Given the description of an element on the screen output the (x, y) to click on. 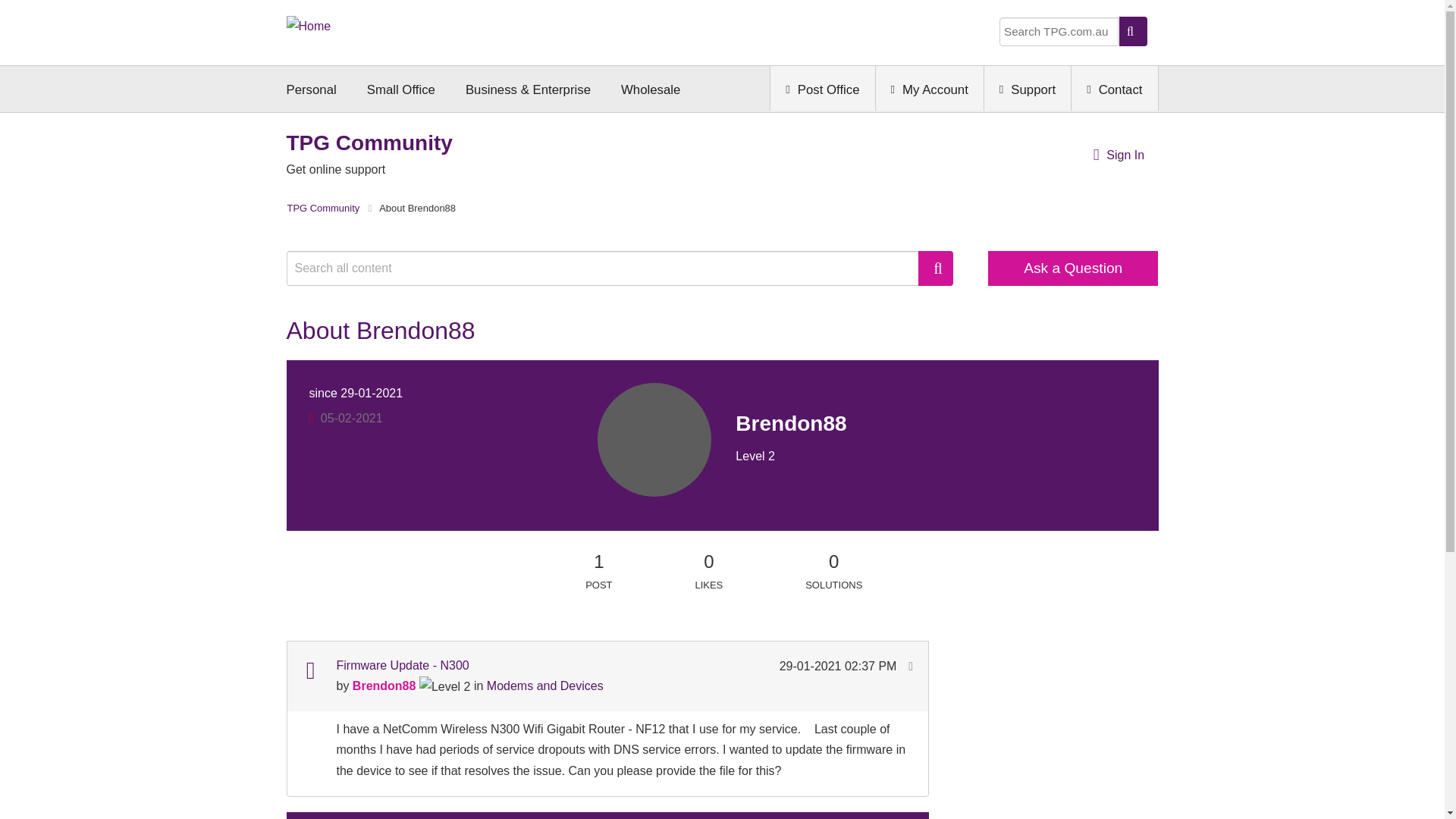
Search (935, 267)
Home (308, 24)
Brendon88 (654, 439)
User is offline (311, 418)
Level 2 (444, 686)
Search (610, 267)
Posted on (838, 666)
Forum (309, 670)
Search (935, 267)
